Given the description of an element on the screen output the (x, y) to click on. 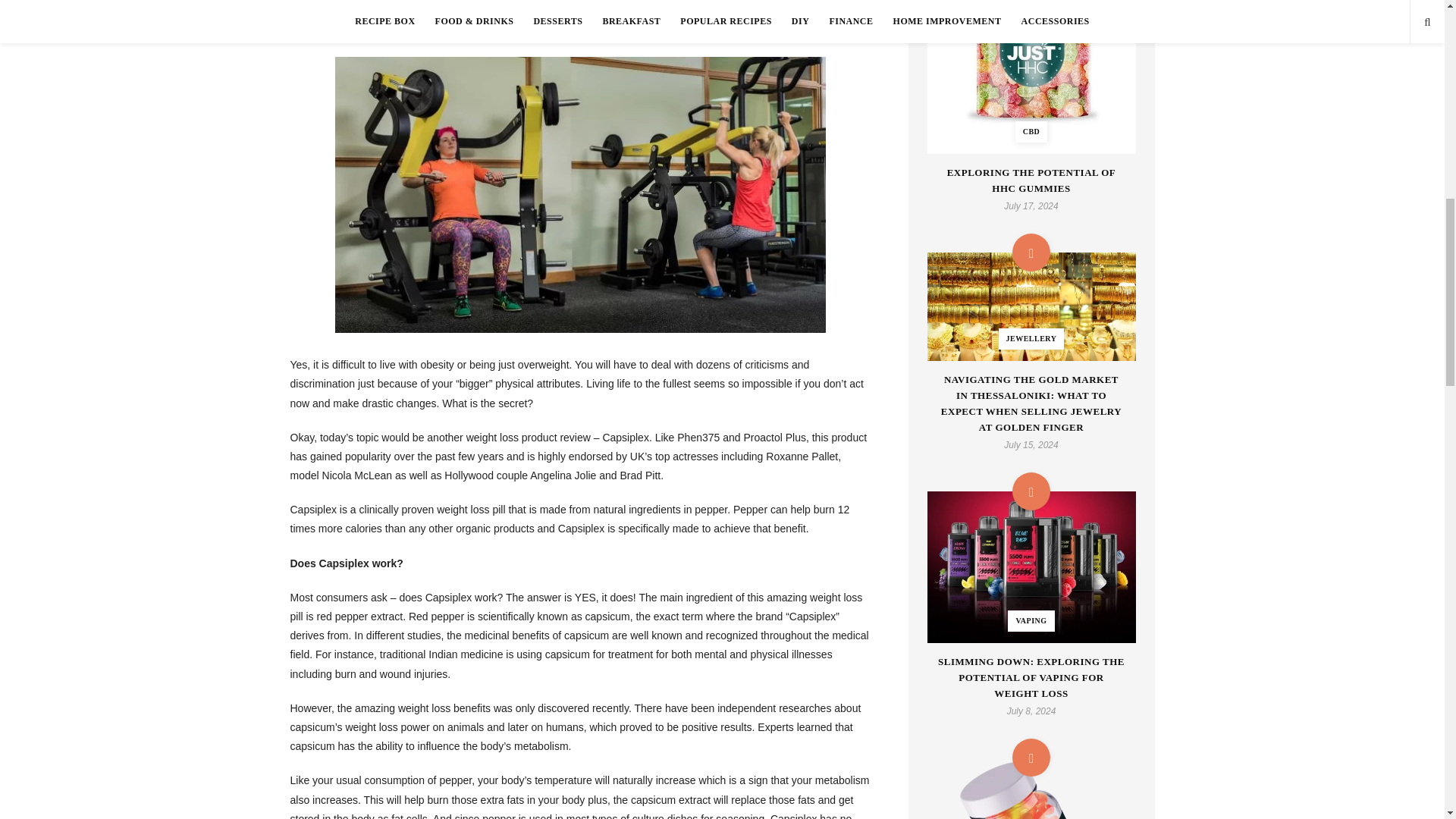
CBD (1030, 76)
Permanent Link: Exploring The Potential Of HHC Gummies (1030, 76)
Permanent Link: Exploring The Potential Of HHC Gummies (1031, 181)
EXPLORING THE POTENTIAL OF HHC GUMMIES (1031, 181)
JEWELLERY (1030, 306)
